Given the description of an element on the screen output the (x, y) to click on. 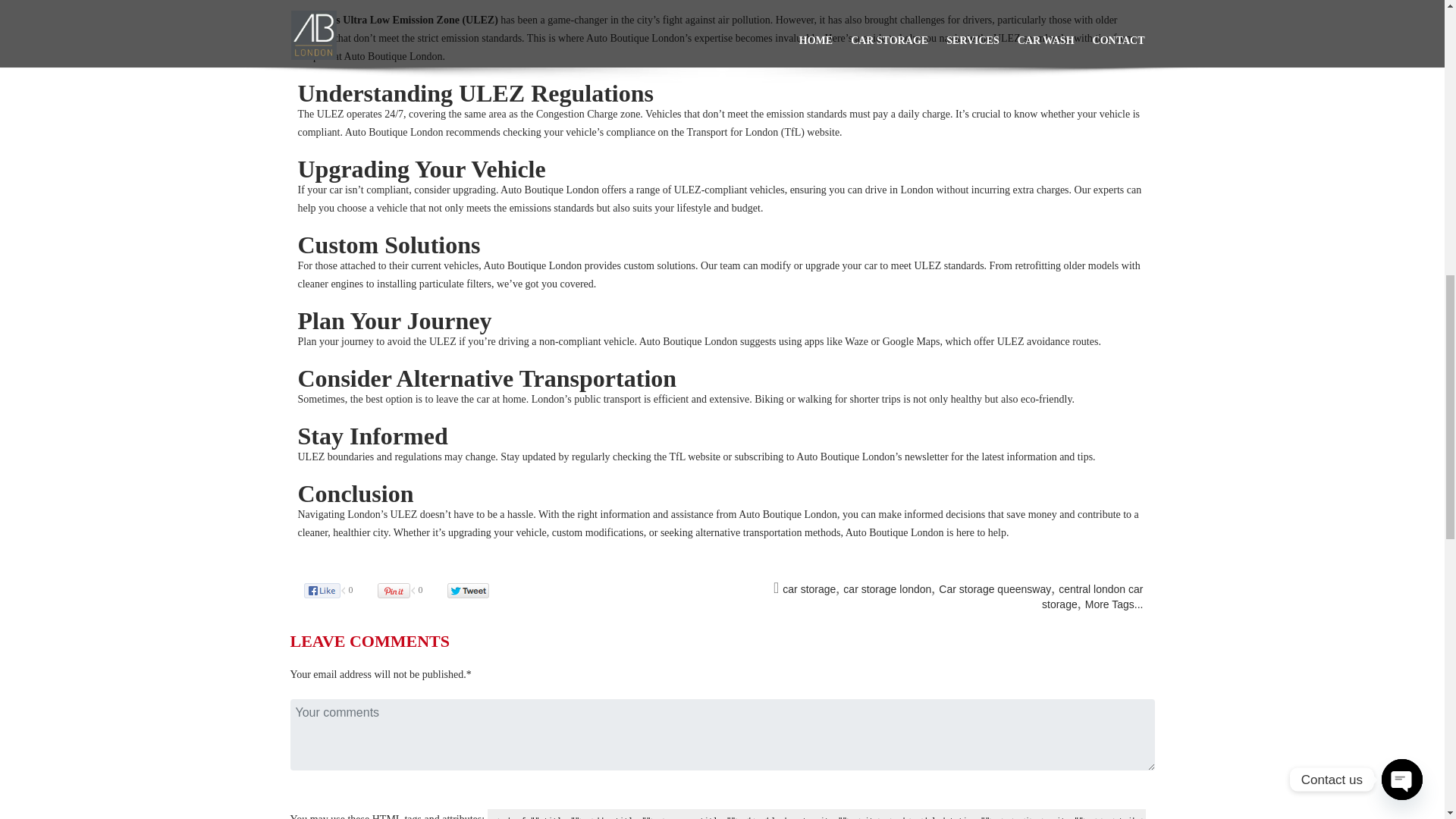
central london car storage Tag (1092, 596)
Share image on Pinterest (409, 590)
car storage (809, 589)
Share link on Twitter (474, 590)
Share link on Facebook (336, 590)
More Tags... (1113, 604)
car storage london Tag (887, 589)
car storage london (887, 589)
HyperText Markup Language (386, 816)
Car storage queensway (995, 589)
central london car storage (1092, 596)
car storage Tag (809, 589)
Car storage queensway Tag (995, 589)
